Given the description of an element on the screen output the (x, y) to click on. 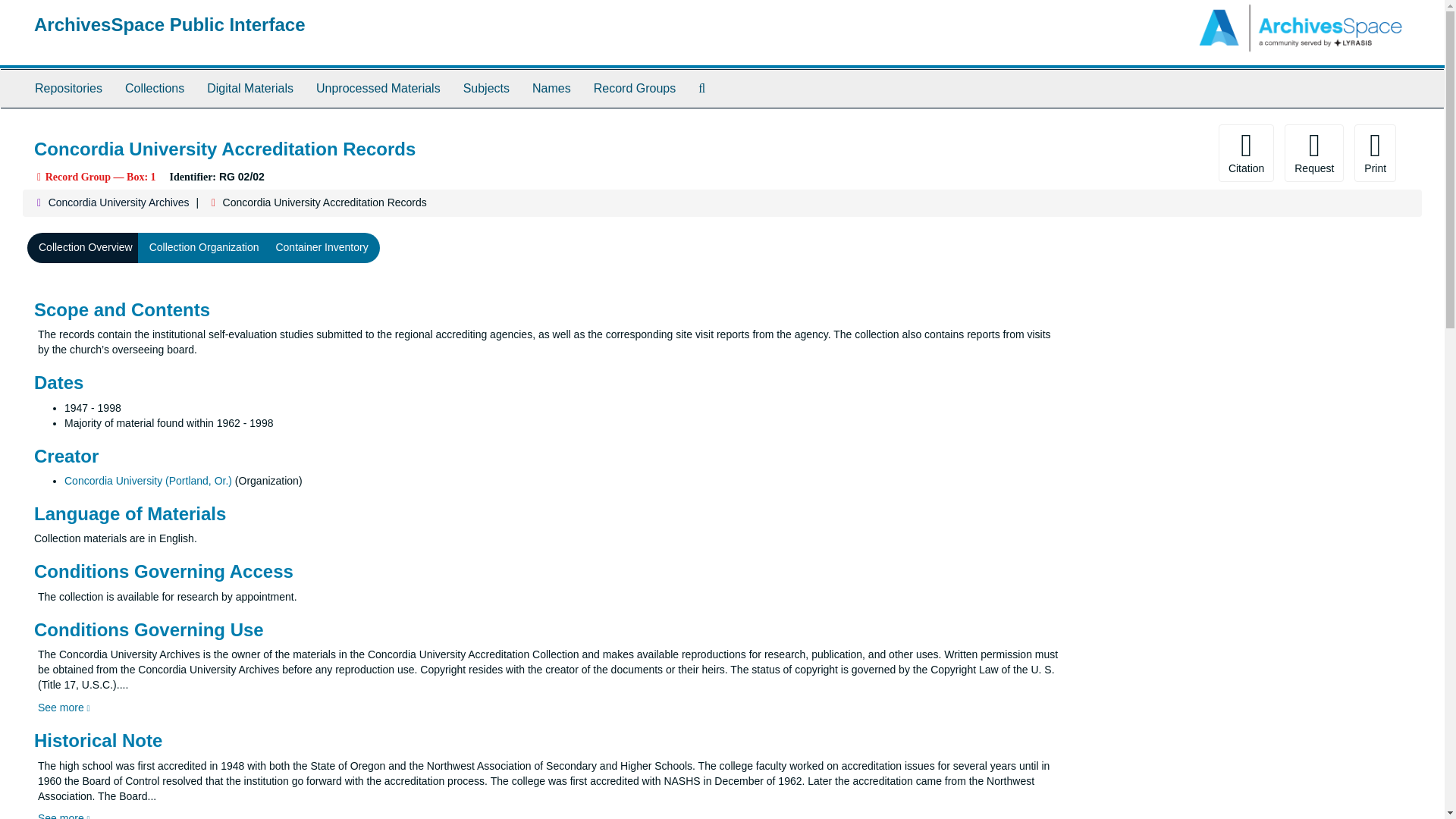
ArchivesSpace Public Interface (169, 24)
Collection Overview (85, 247)
Names (551, 88)
See more (63, 707)
Request (1313, 152)
Citation (1246, 152)
Page Actions (1130, 152)
Unprocessed Materials (377, 88)
Container Inventory (320, 247)
Digital Materials (249, 88)
